Given the description of an element on the screen output the (x, y) to click on. 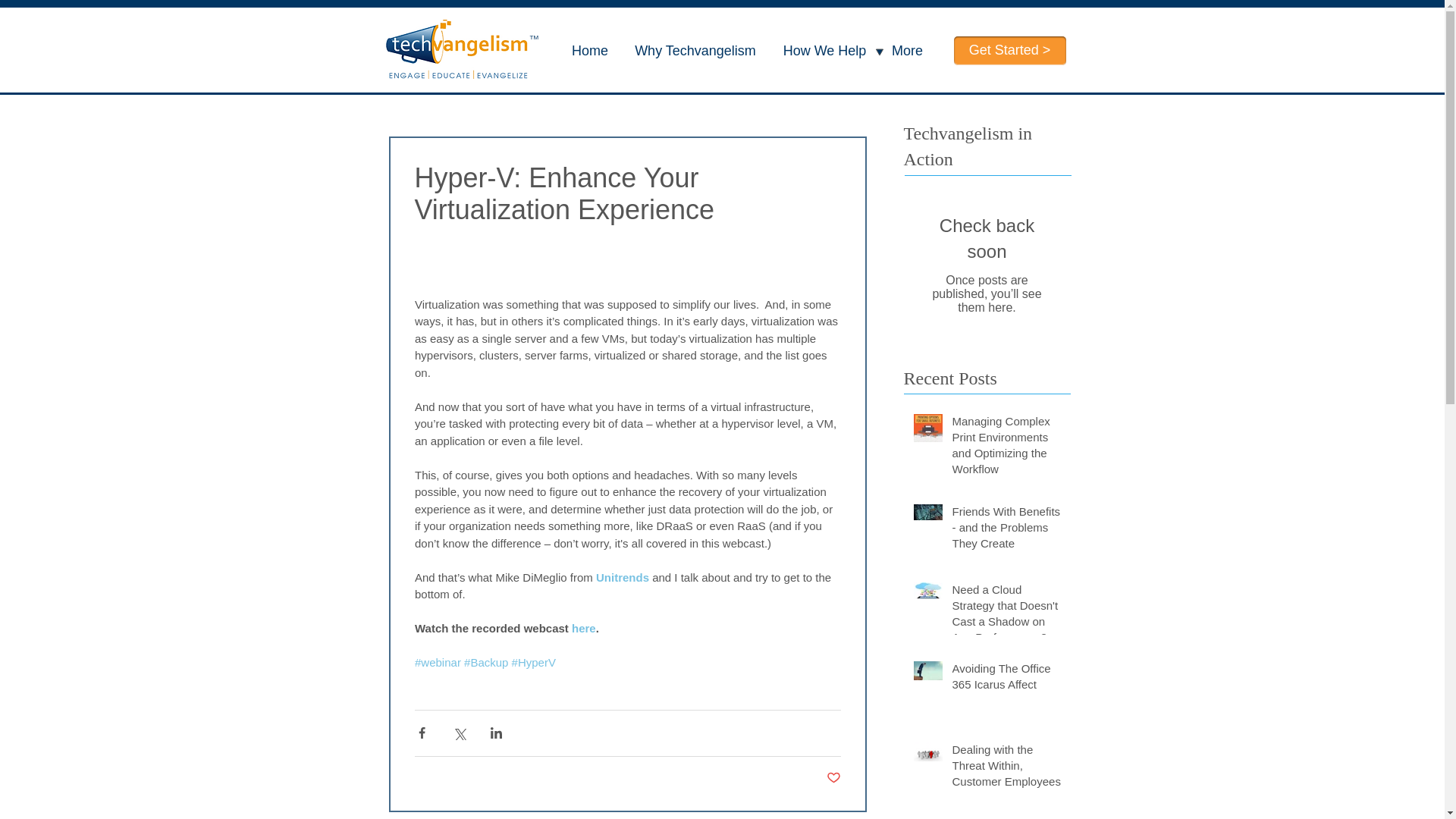
Dealing with the Threat Within, Customer Employees (1006, 768)
Home (590, 50)
Unitrends (621, 576)
here (583, 627)
How We Help (824, 50)
Avoiding The Office 365 Icarus Affect (1006, 679)
Post not marked as liked (834, 778)
Friends With Benefits - and the Problems They Create (1006, 530)
Why Techvangelism (695, 50)
